Given the description of an element on the screen output the (x, y) to click on. 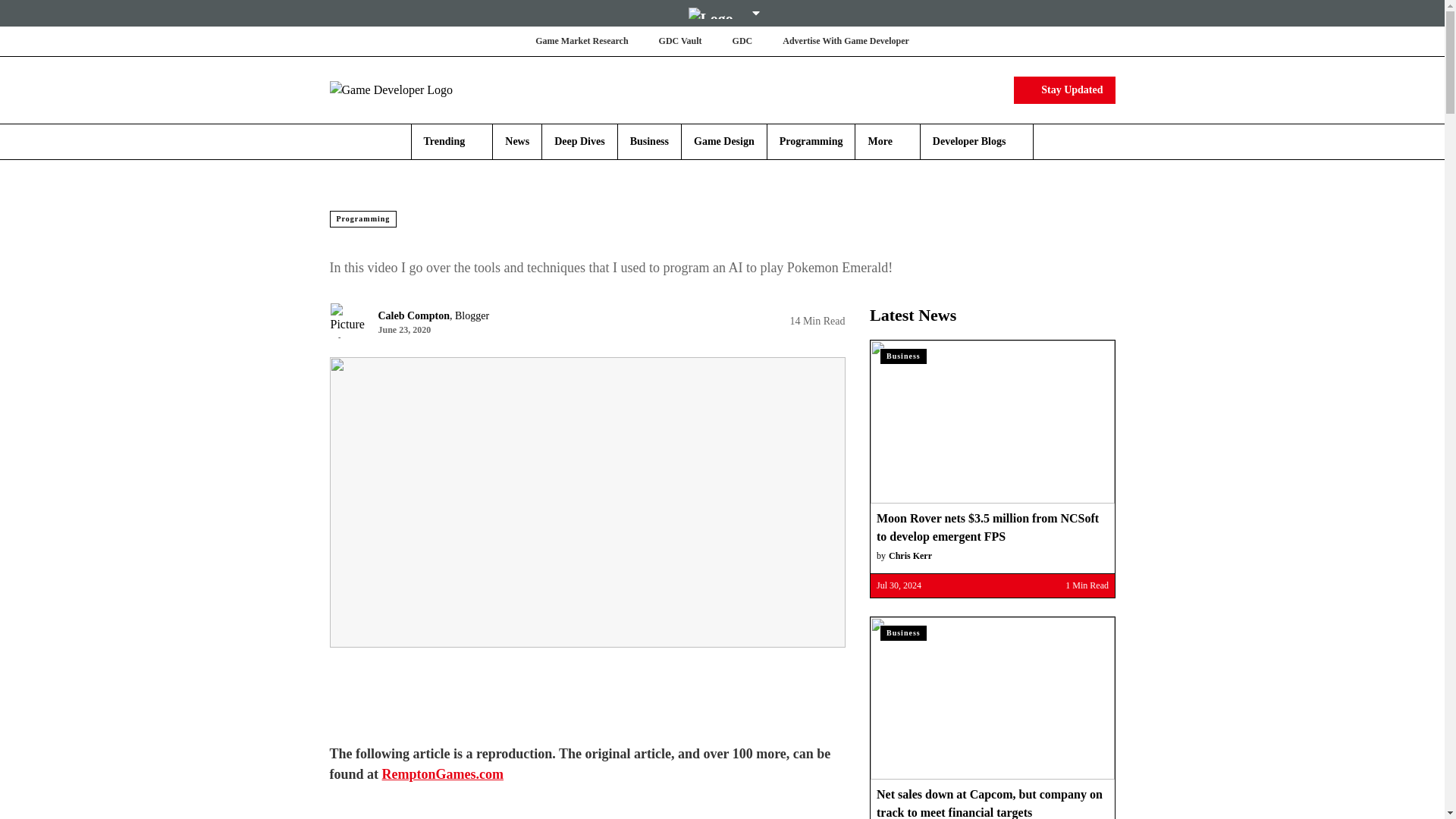
Stay Updated (1064, 89)
Game Market Research (581, 41)
Deep Dives (579, 141)
Game Design (724, 141)
Picture of Caleb Compton (347, 320)
GDC Vault (680, 41)
GDC (742, 41)
Game Developer Logo (419, 90)
Advertise With Game Developer (845, 41)
Business (649, 141)
Programming (810, 141)
News (517, 141)
